Given the description of an element on the screen output the (x, y) to click on. 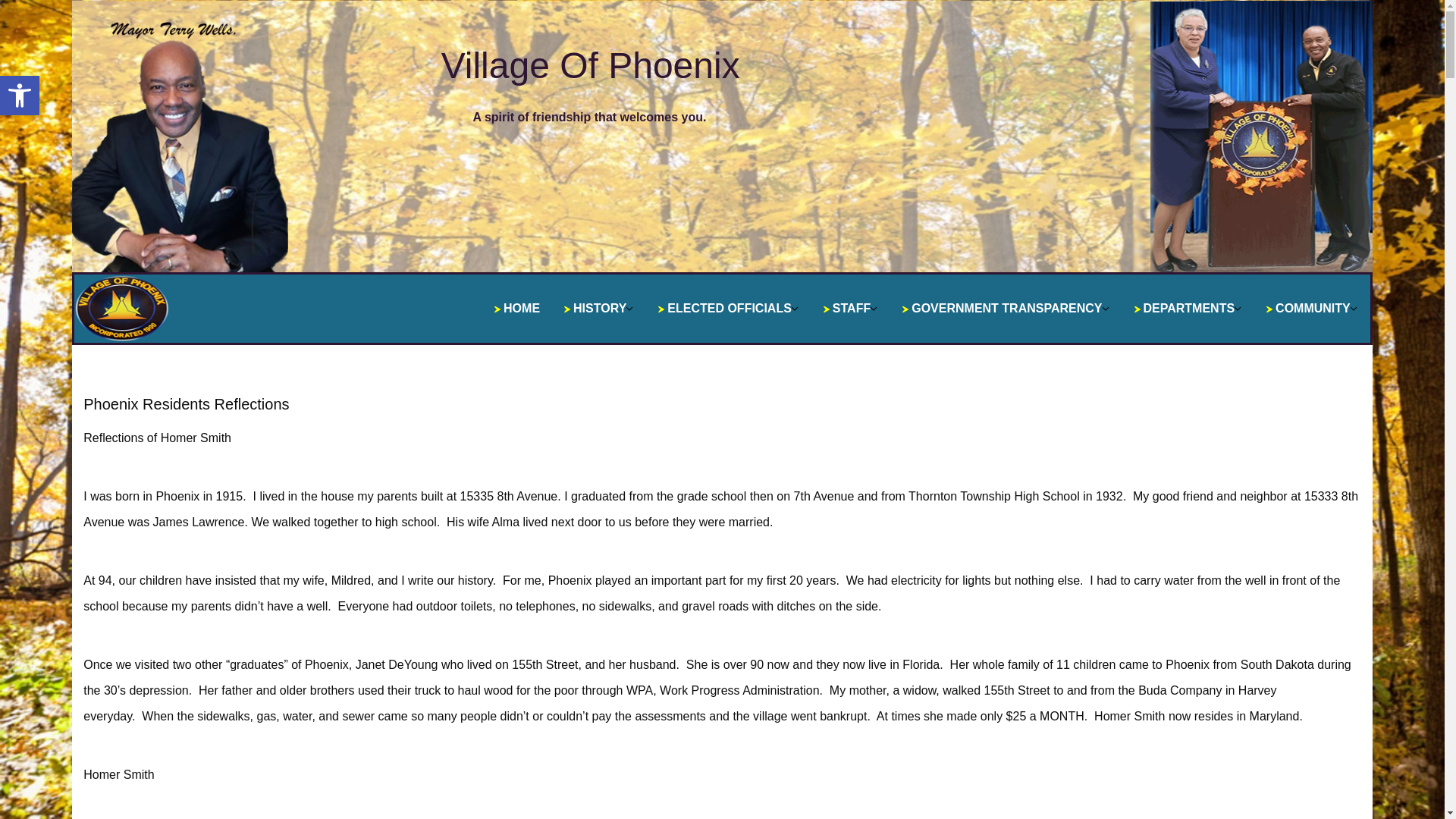
Village Of Phoenix (590, 65)
Accessibility Tools (19, 95)
ELECTED OFFICIALS (728, 308)
Village Of Phoenix (590, 65)
Accessibility Tools (19, 95)
STAFF (19, 95)
HISTORY (850, 308)
